Given the description of an element on the screen output the (x, y) to click on. 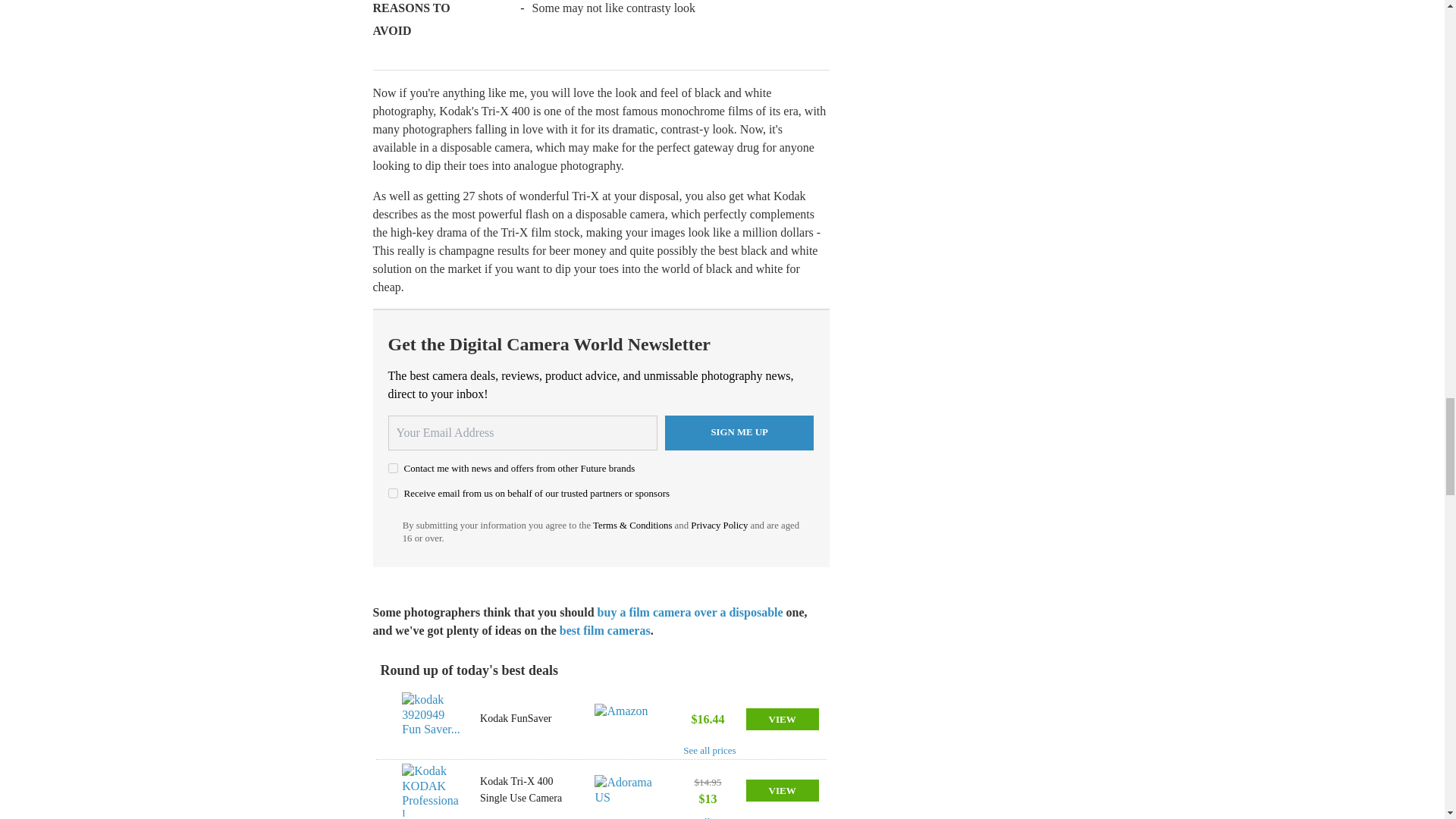
kodak 3920949 Fun Saver... (431, 718)
Sign me up (739, 432)
Amazon (624, 718)
Kodak KODAK Professional... (431, 789)
Adorama US (624, 789)
on (392, 468)
on (392, 492)
